Given the description of an element on the screen output the (x, y) to click on. 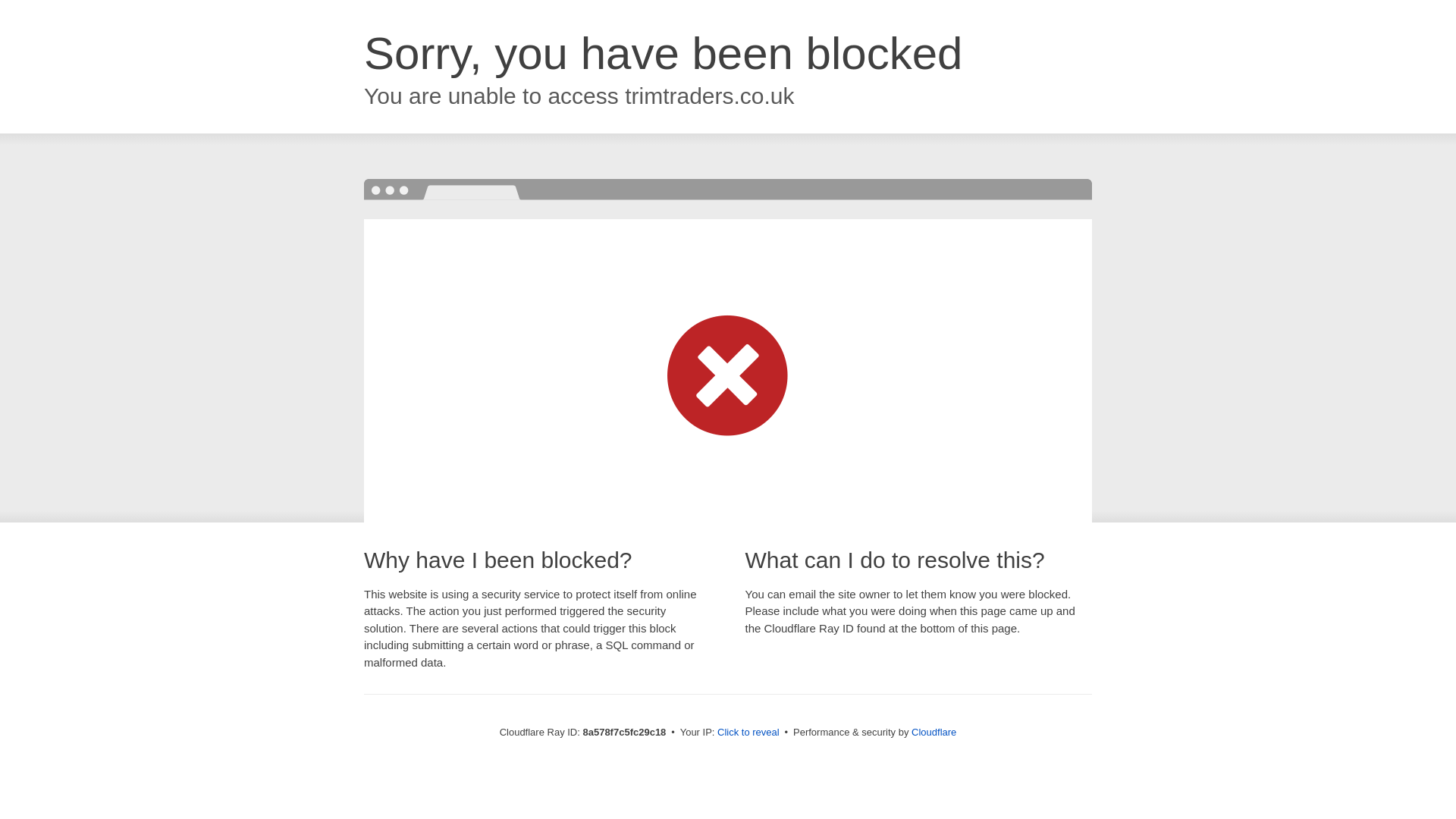
Cloudflare (933, 731)
Click to reveal (747, 732)
